Given the description of an element on the screen output the (x, y) to click on. 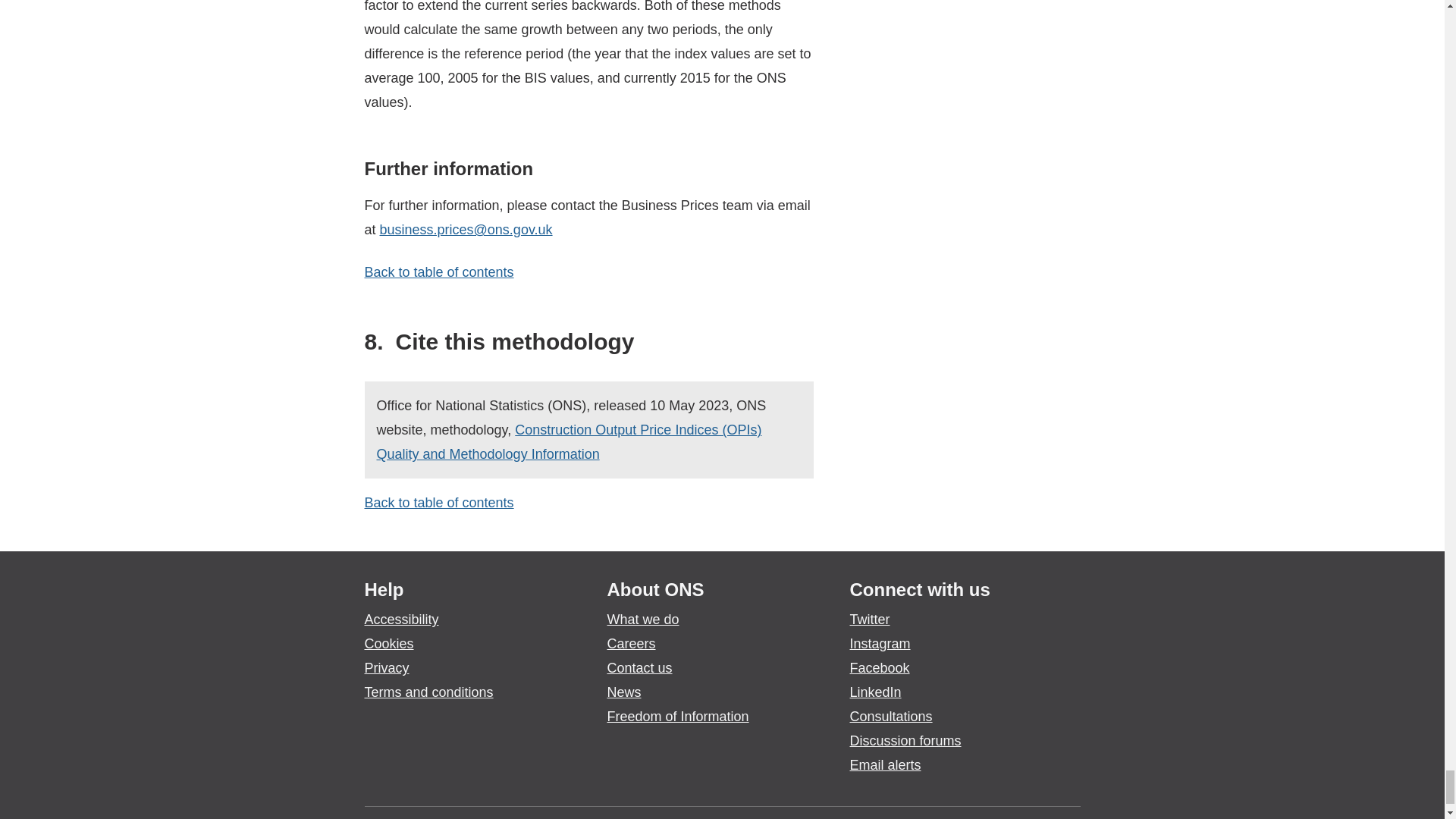
Back to table of contents (438, 272)
Back to table of contents (438, 502)
